Given the description of an element on the screen output the (x, y) to click on. 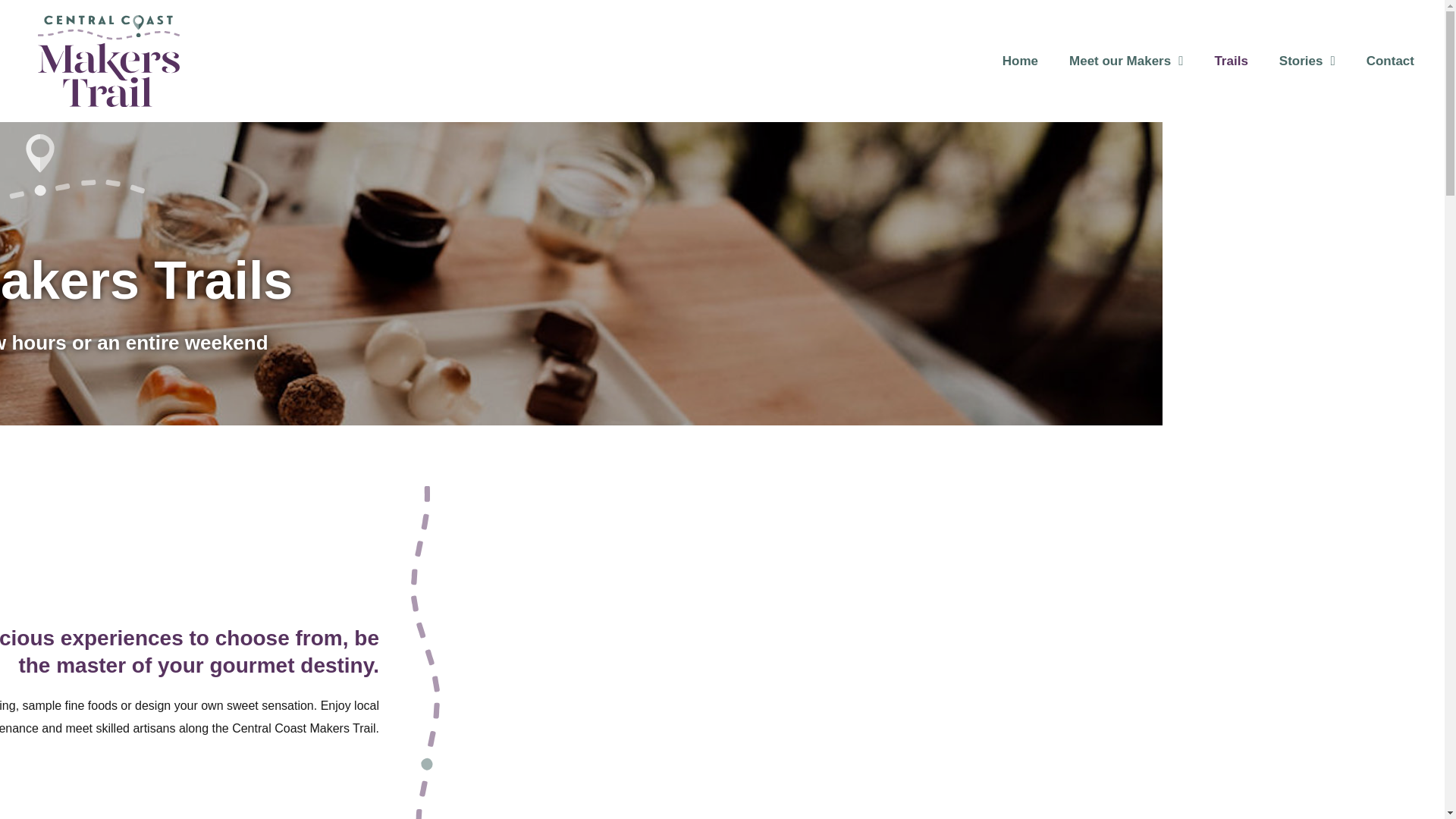
Stories (1307, 61)
Trails (1230, 61)
Contact (1390, 61)
Meet our Makers (1125, 61)
Home (1020, 61)
